Given the description of an element on the screen output the (x, y) to click on. 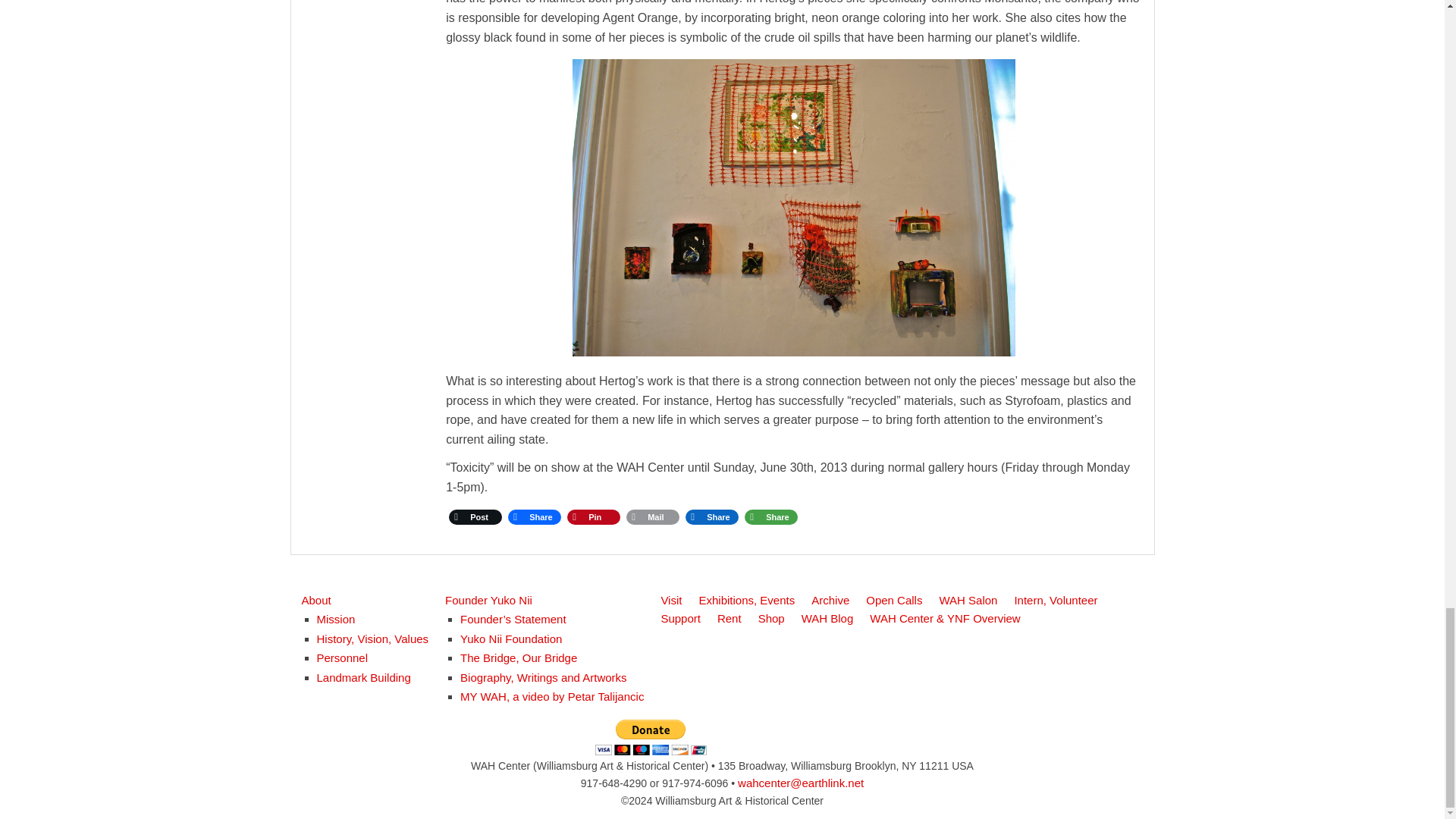
LinkedIn (711, 516)
Hours open, directions (671, 600)
Email This (652, 516)
Pinterest (593, 516)
Facebook (534, 516)
More Options (770, 516)
